Given the description of an element on the screen output the (x, y) to click on. 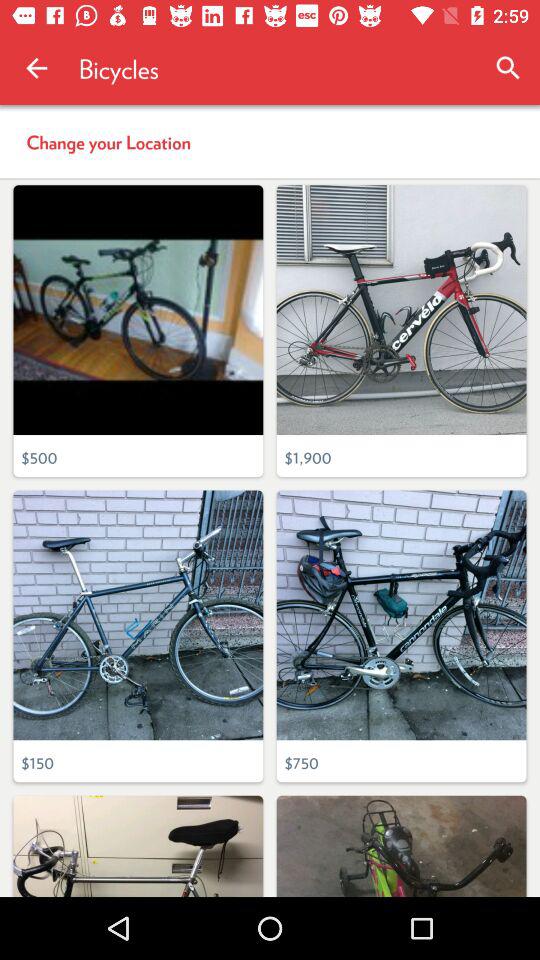
turn on the icon above the change your location (36, 68)
